Given the description of an element on the screen output the (x, y) to click on. 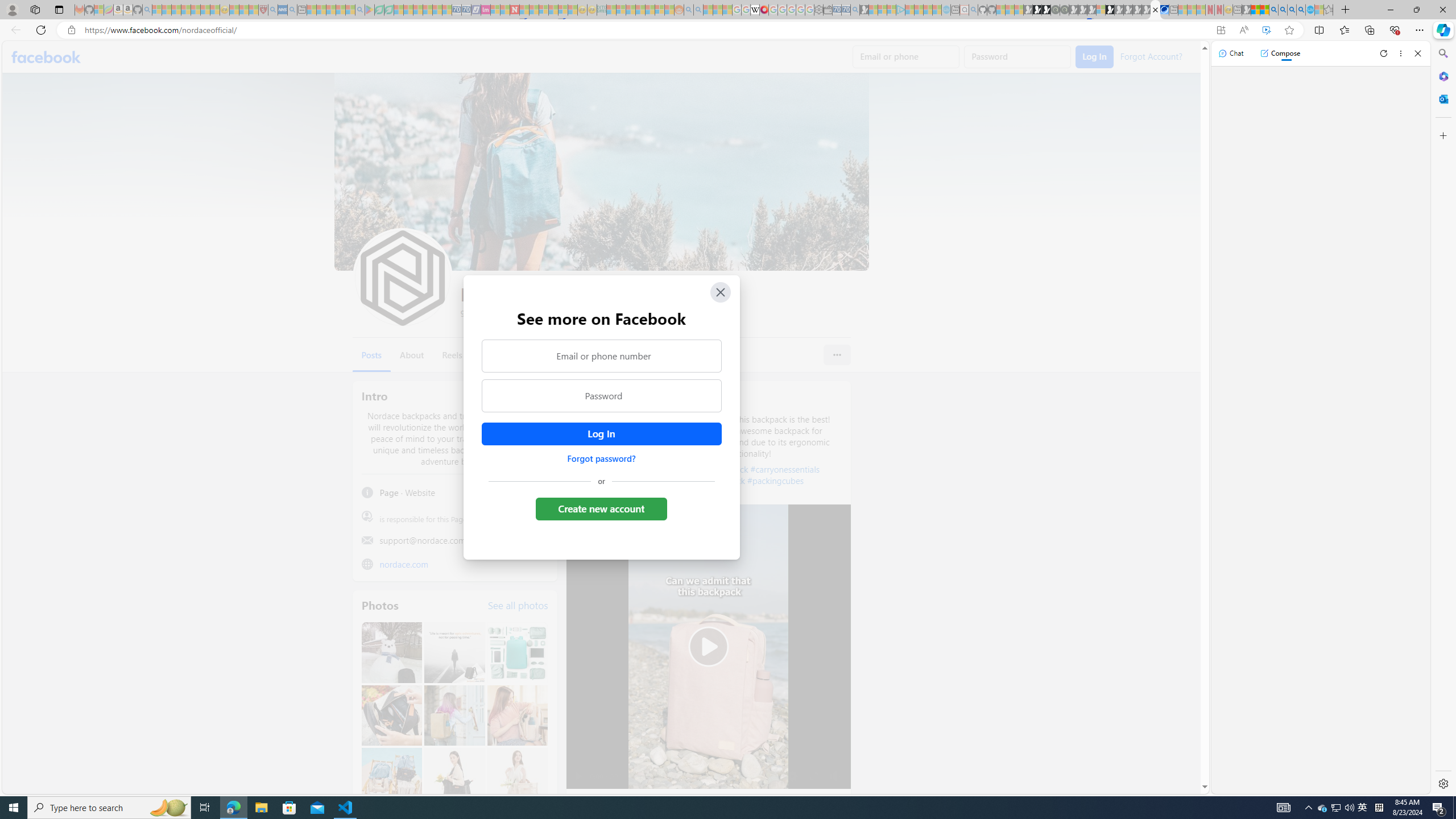
MediaWiki (763, 9)
Email or phone number (600, 355)
Compose (1279, 52)
Forgot password? (601, 458)
Forgot Account? (1150, 55)
